Given the description of an element on the screen output the (x, y) to click on. 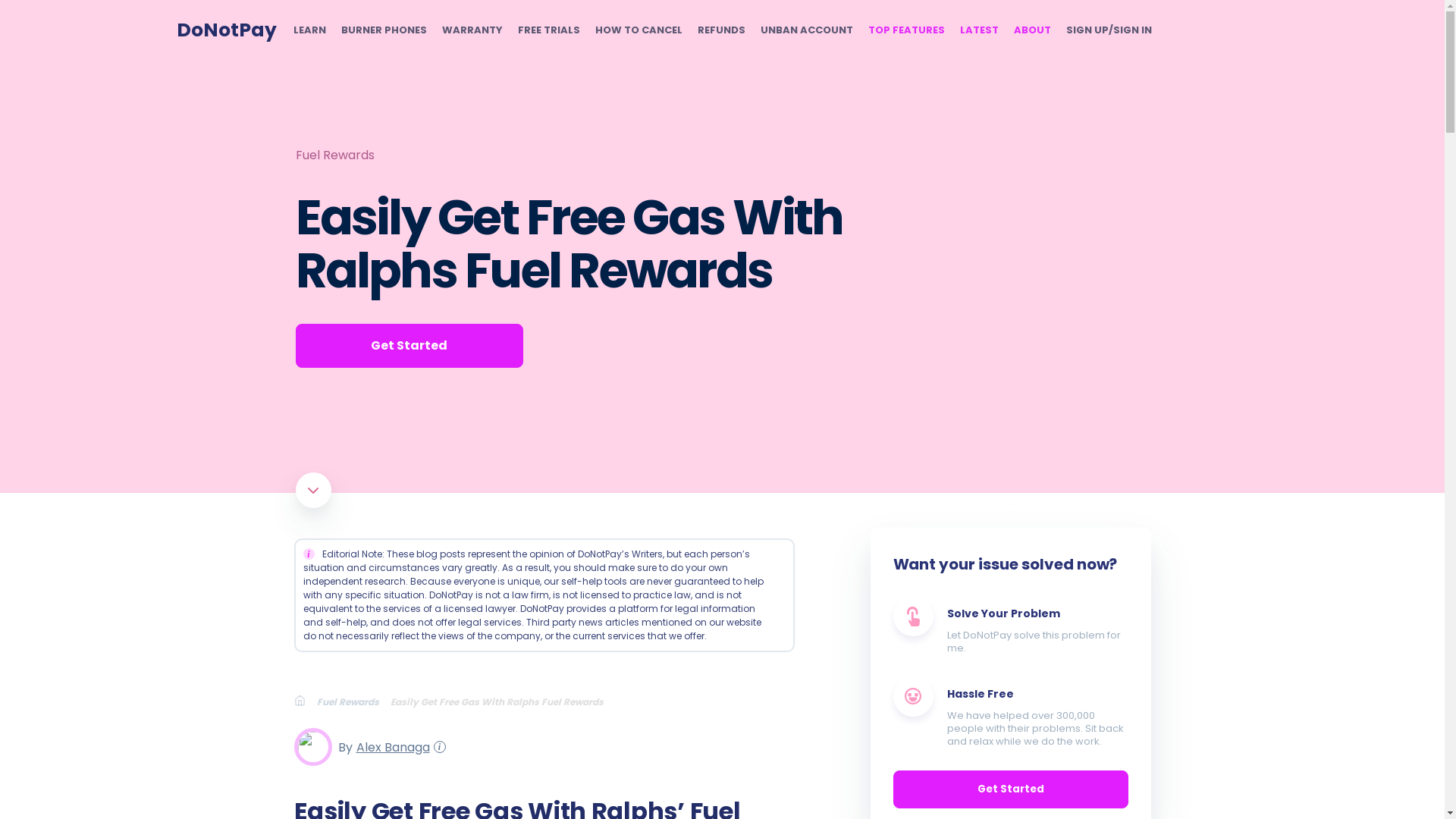
FREE TRIALS (547, 29)
LATEST (978, 29)
UNBAN ACCOUNT (805, 29)
ABOUT (1031, 29)
DoNotPay (226, 29)
TOP FEATURES (905, 29)
LEARN (308, 29)
Fuel Rewards (334, 154)
WARRANTY (471, 29)
Fuel Rewards (353, 700)
BURNER PHONES (383, 29)
Get Started (408, 345)
REFUNDS (721, 29)
HOW TO CANCEL (637, 29)
Alex Banaga (390, 746)
